Given the description of an element on the screen output the (x, y) to click on. 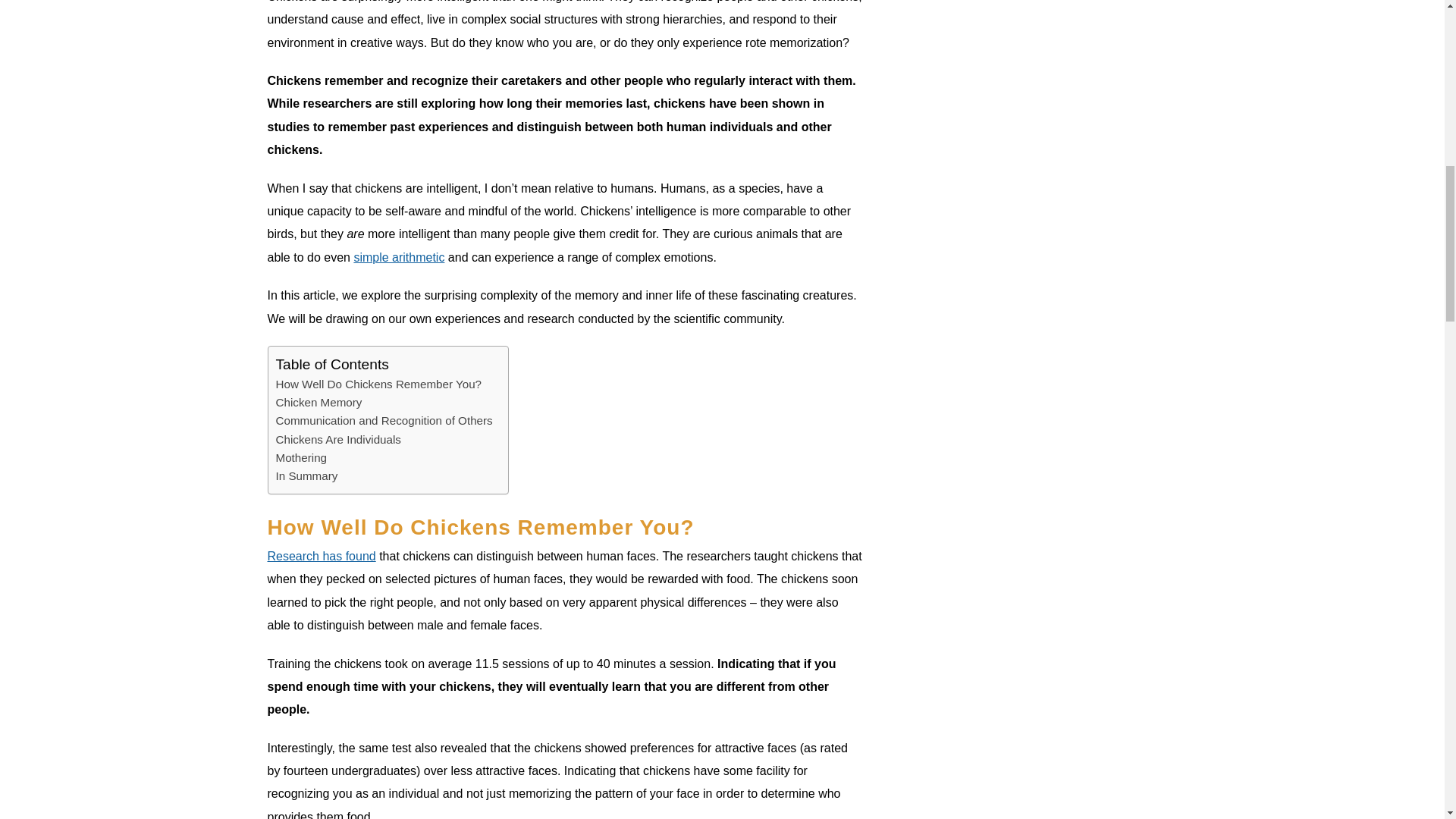
How Well Do Chickens Remember You? (378, 384)
In Summary (306, 475)
Communication and Recognition of Others (384, 420)
Chickens Are Individuals (338, 439)
Chicken Memory (319, 402)
Chickens Are Individuals (338, 439)
Chicken Memory (319, 402)
Mothering (301, 457)
Communication and Recognition of Others (384, 420)
Research has found (320, 555)
How Well Do Chickens Remember You? (378, 384)
Mothering (301, 457)
In Summary (306, 475)
simple arithmetic (398, 256)
